Given the description of an element on the screen output the (x, y) to click on. 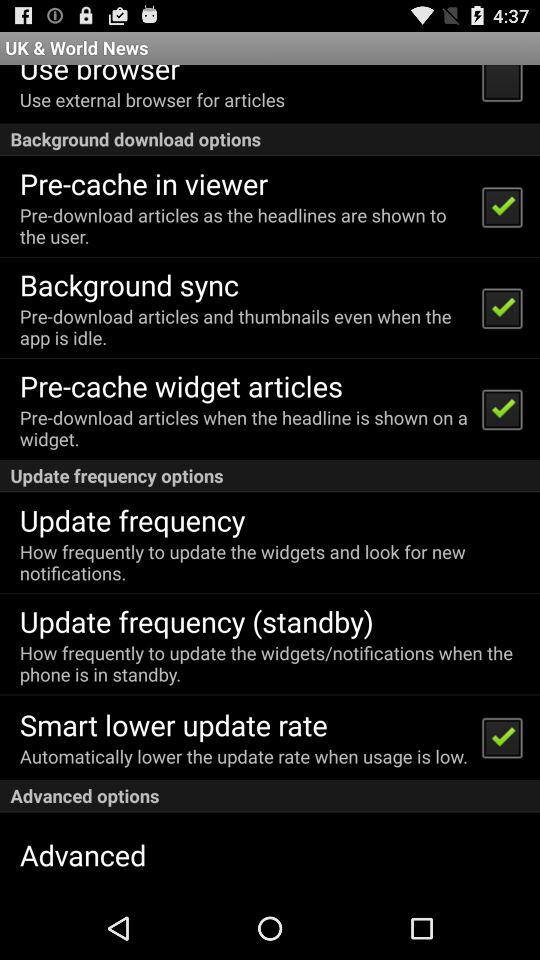
select the item above pre download articles (128, 284)
